Given the description of an element on the screen output the (x, y) to click on. 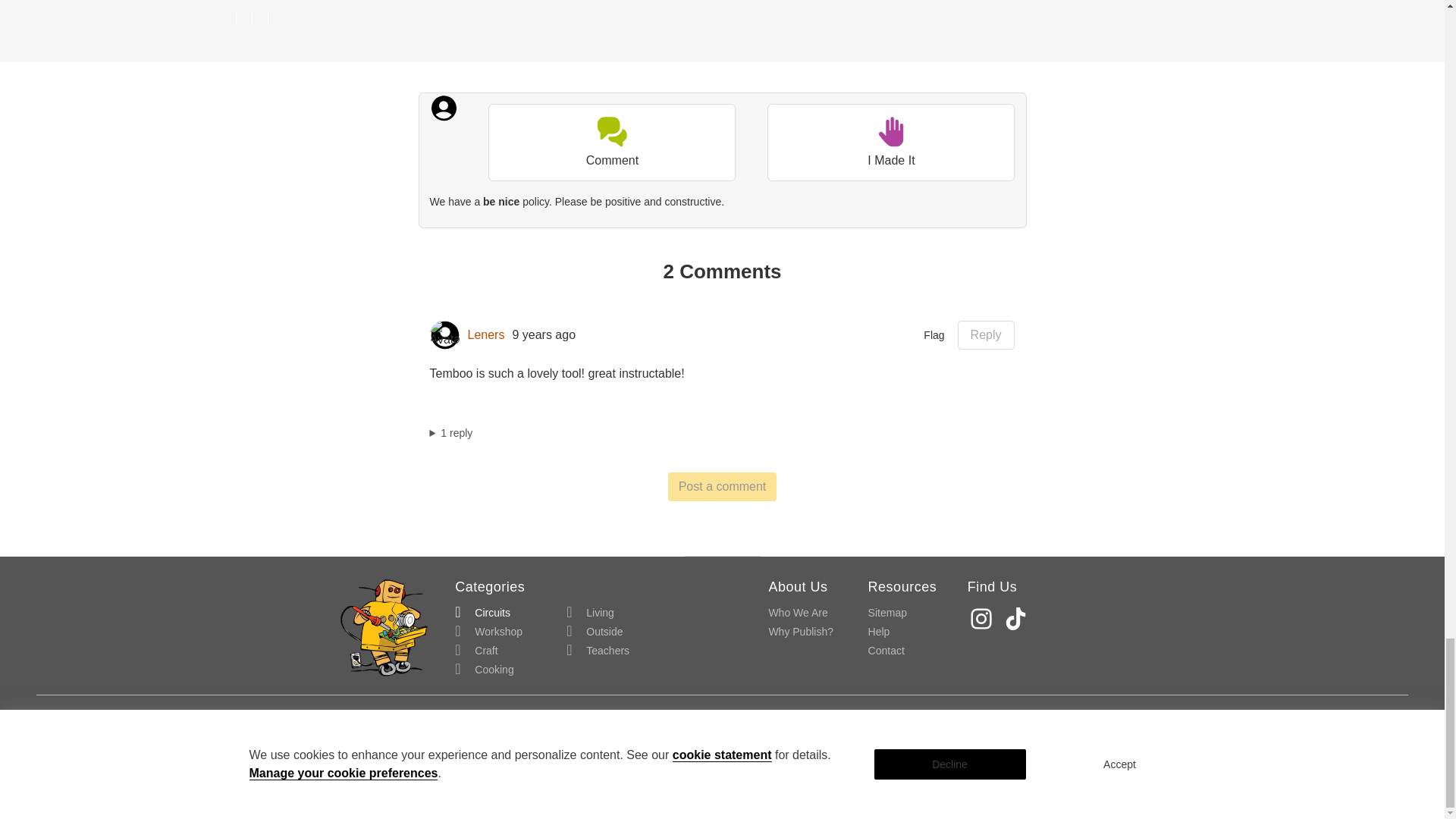
TikTok (1018, 618)
Instagram (983, 618)
2016-01-21 12:12:41.0 (543, 335)
